Given the description of an element on the screen output the (x, y) to click on. 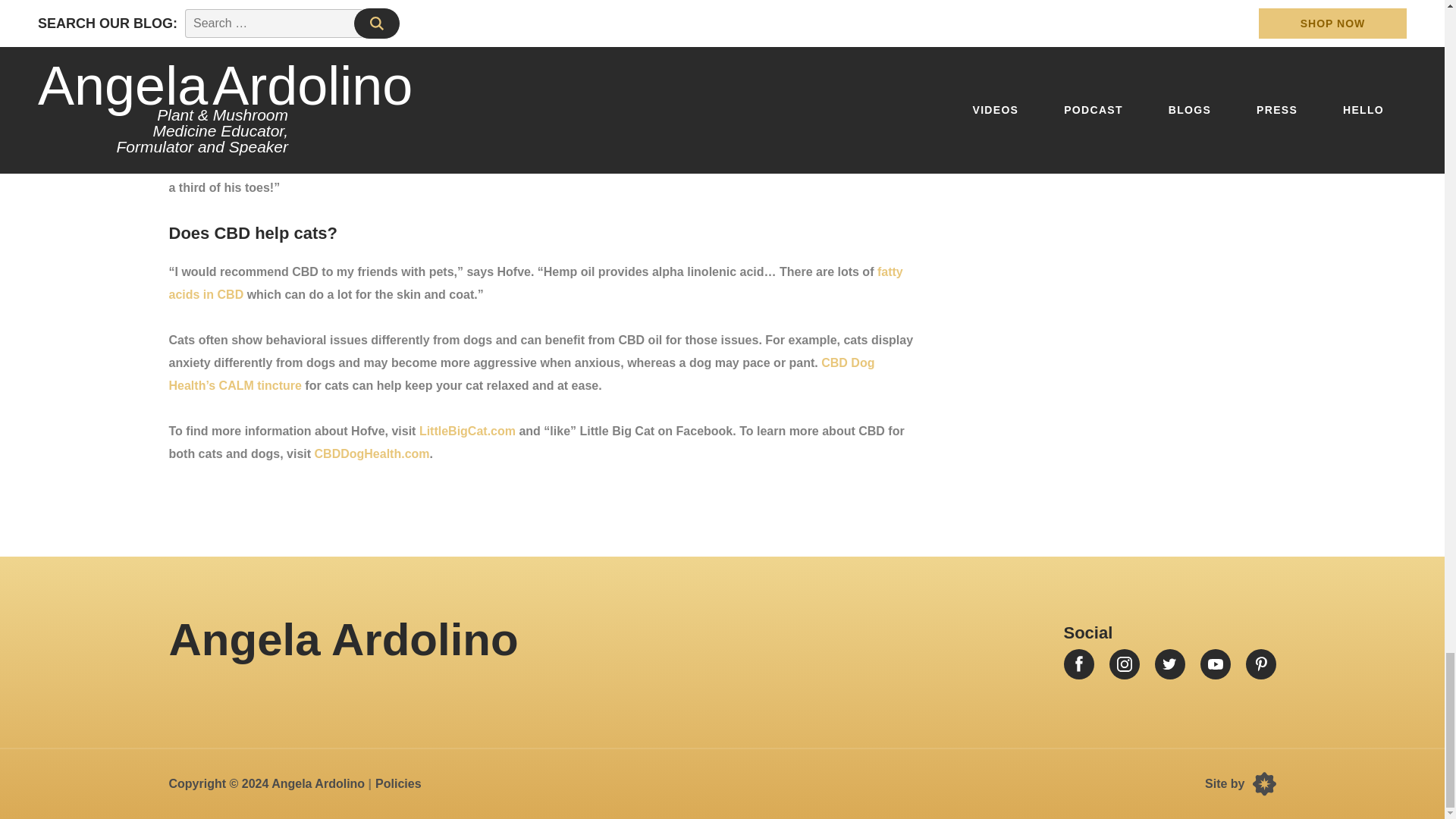
declaw a cat (272, 141)
Follow us on twitter (1169, 664)
Follow us on Facebook (1077, 664)
fatty acids in CBD (535, 283)
Follow us on instagram (1123, 664)
CBDDogHealth.com (371, 453)
LittleBigCat.com (467, 431)
